Given the description of an element on the screen output the (x, y) to click on. 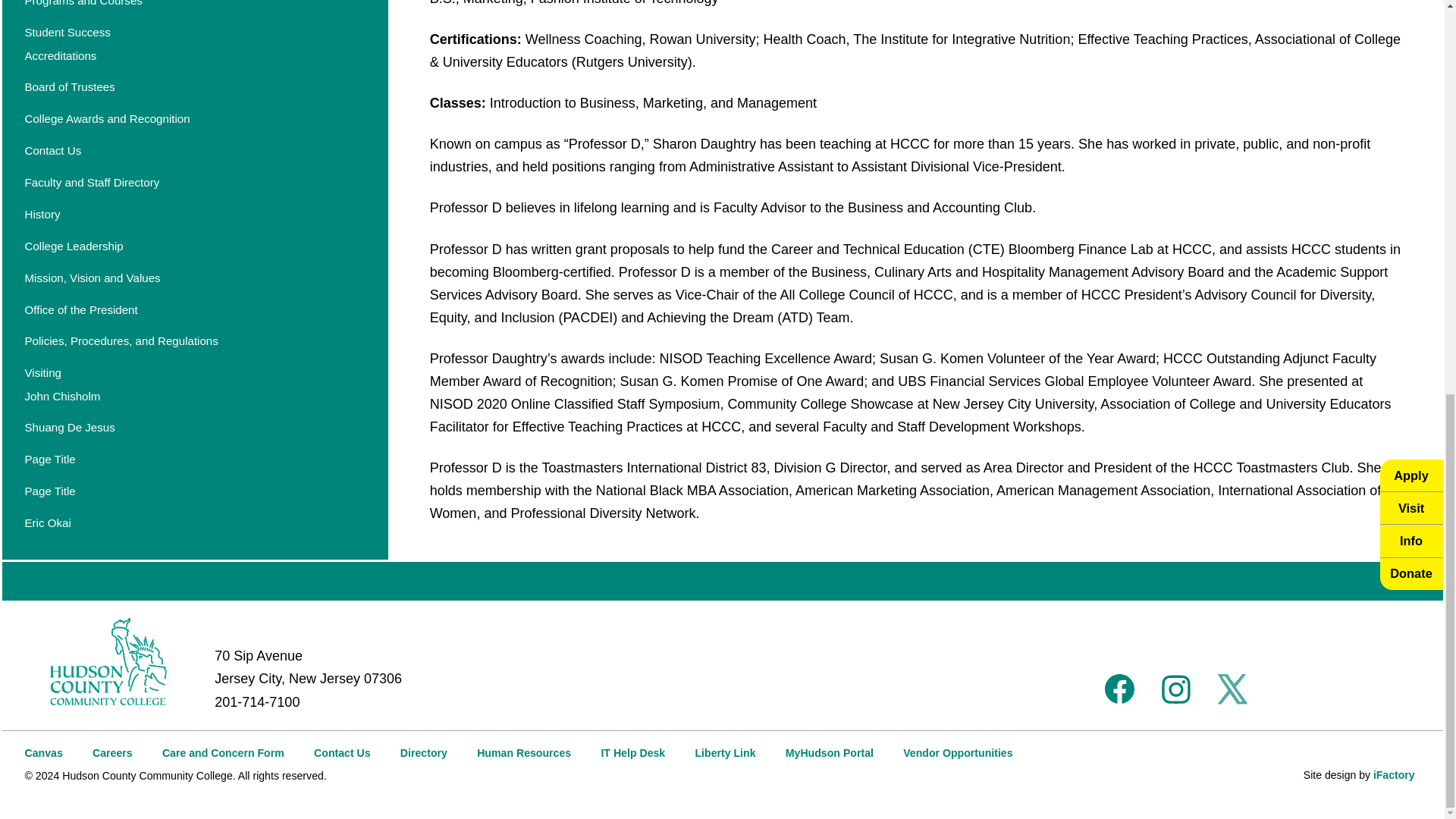
pinterest (1344, 689)
flickr (1401, 689)
IT Help Desk (632, 752)
twitter (1232, 689)
instagram (1175, 689)
youtube (1287, 689)
facebook (1120, 689)
